Given the description of an element on the screen output the (x, y) to click on. 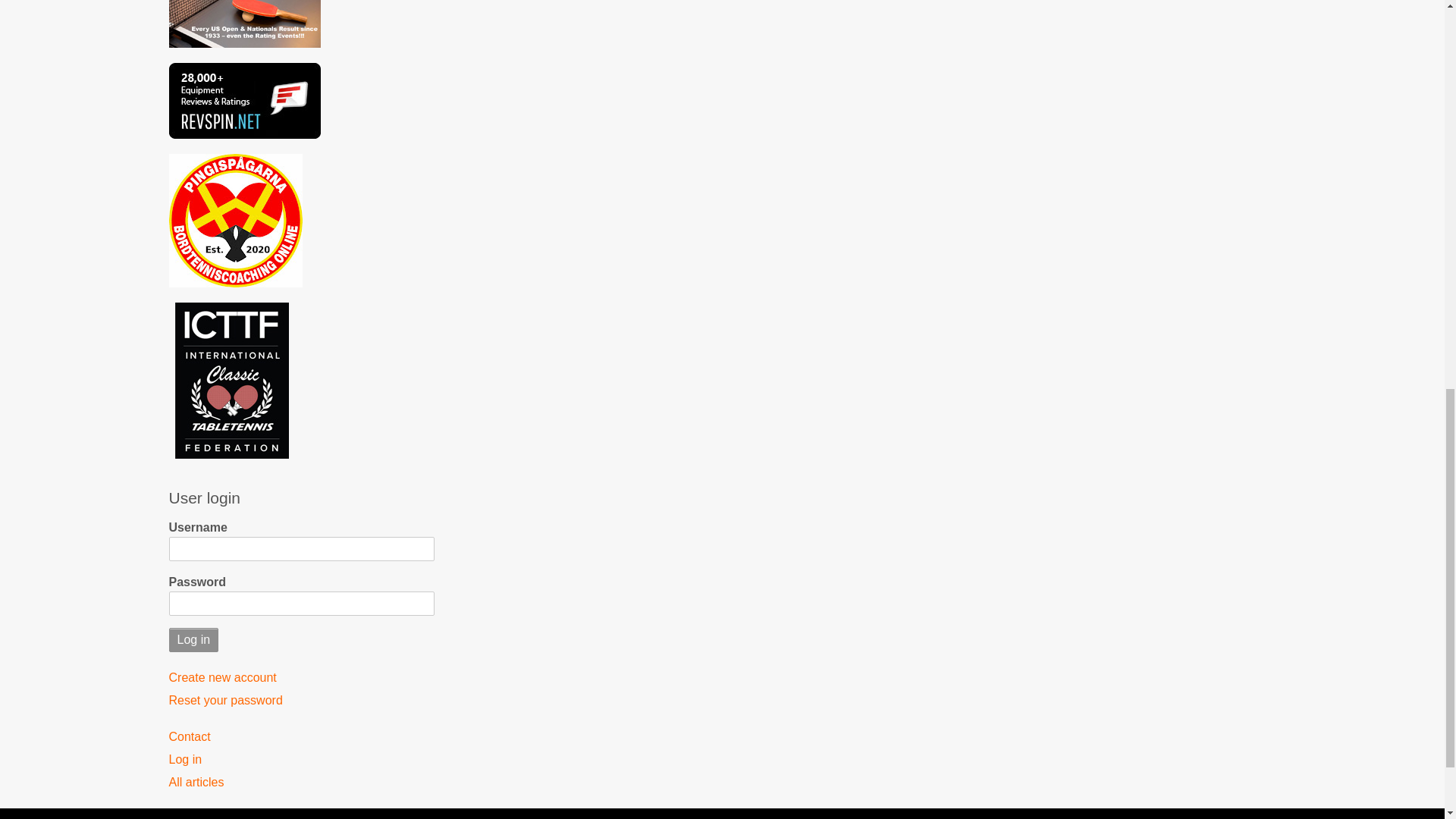
Log in (193, 639)
All articles (300, 782)
Log in (193, 639)
Create new account (300, 677)
Reset your password (300, 700)
Contact (300, 736)
Send password reset instructions via email. (300, 700)
Log in (300, 759)
Create a new user account. (300, 677)
